Given the description of an element on the screen output the (x, y) to click on. 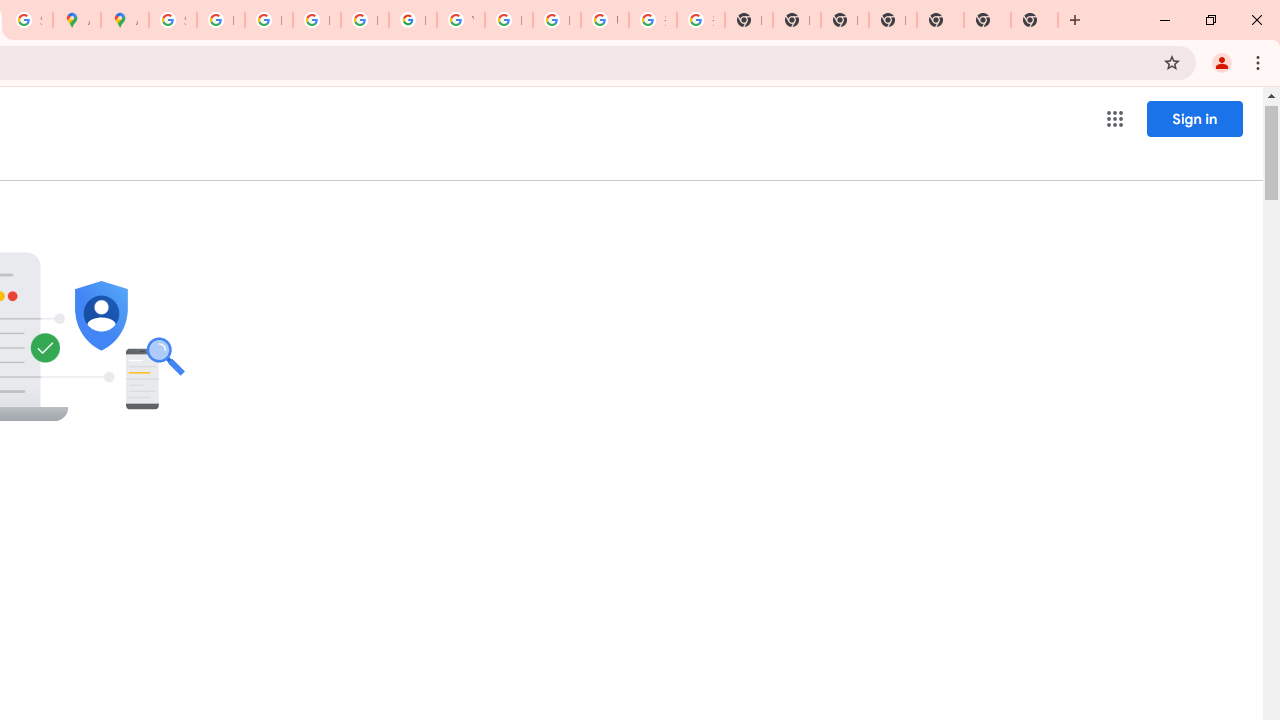
Privacy Help Center - Policies Help (268, 20)
Close (1256, 20)
Chrome (1260, 62)
Minimize (1165, 20)
Sign in - Google Accounts (172, 20)
New Tab (1075, 20)
